Given the description of an element on the screen output the (x, y) to click on. 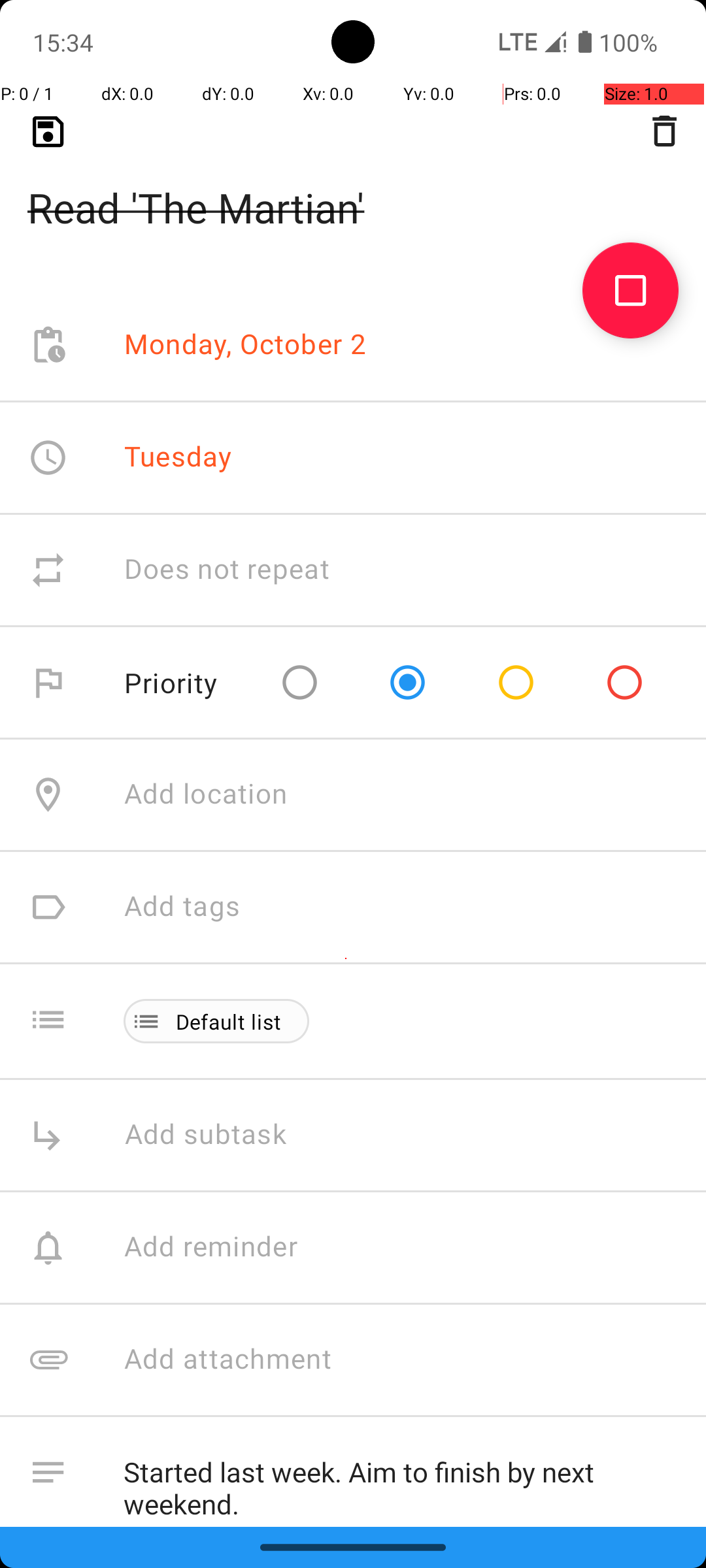
Started last week. Aim to finish by next weekend. Element type: android.widget.EditText (400, 1481)
Monday, October 2 Element type: android.widget.TextView (245, 344)
